Given the description of an element on the screen output the (x, y) to click on. 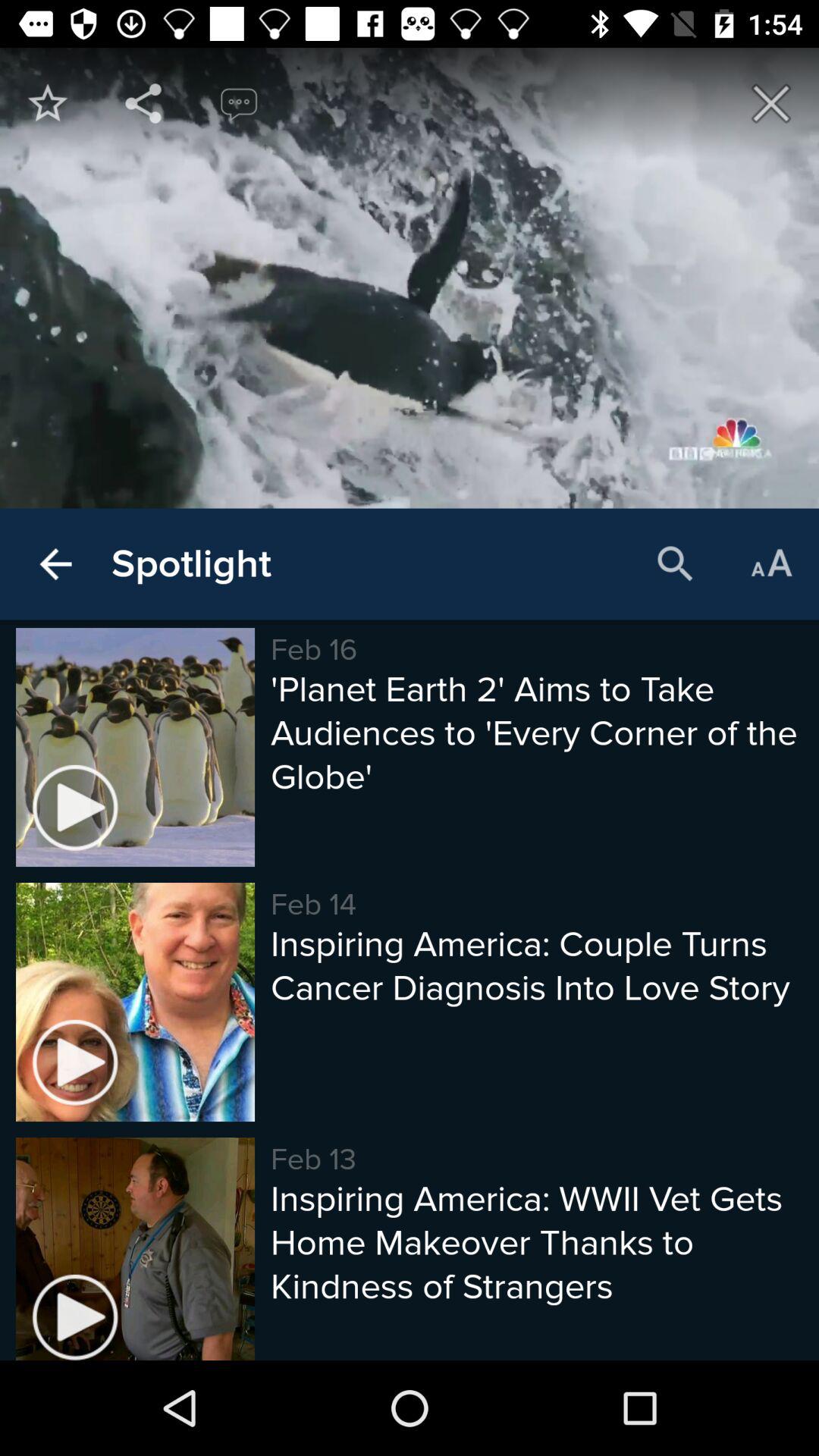
open item to the left of the spotlight icon (55, 563)
